Given the description of an element on the screen output the (x, y) to click on. 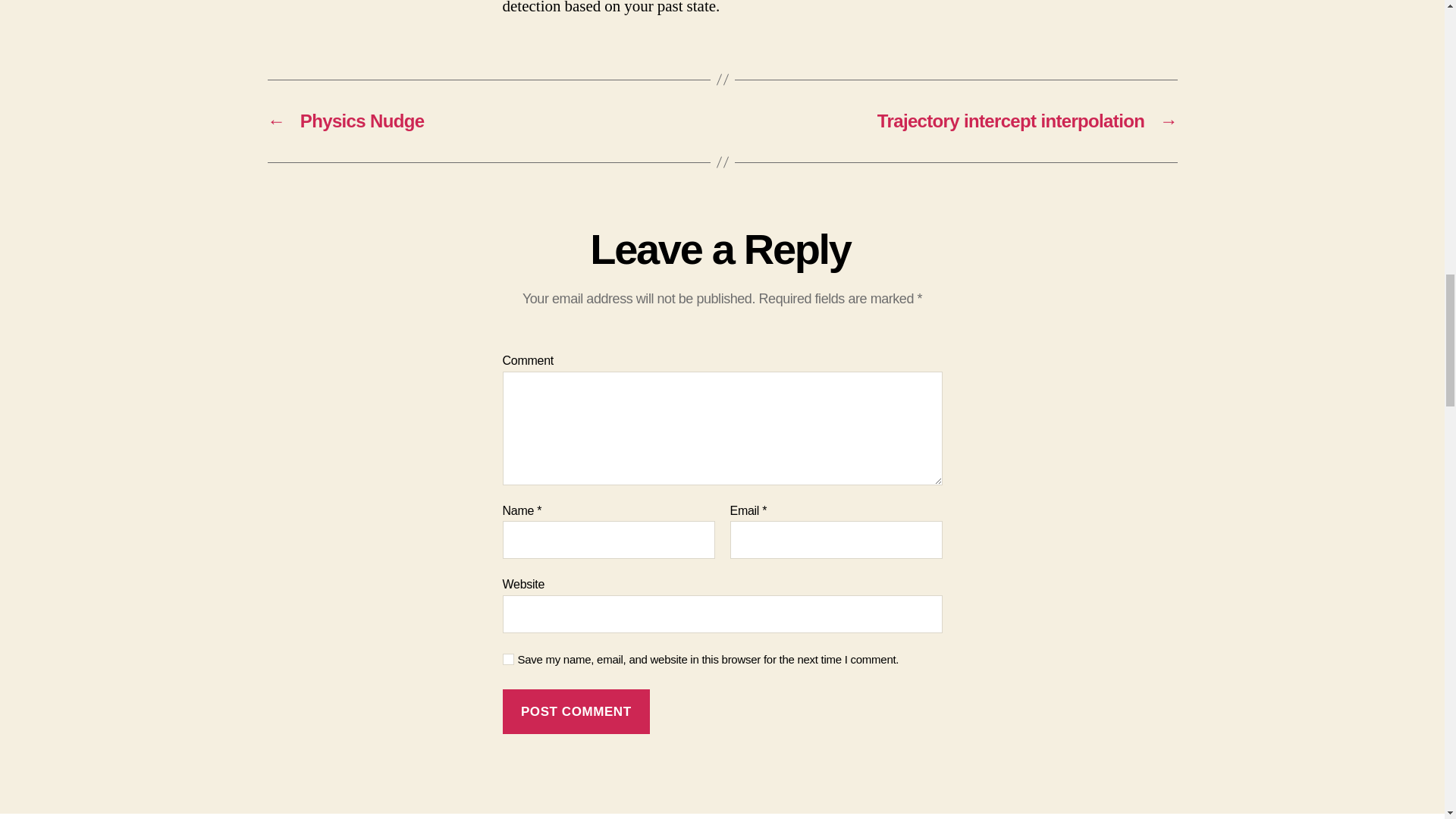
Post Comment (575, 711)
Post Comment (575, 711)
yes (507, 659)
